Given the description of an element on the screen output the (x, y) to click on. 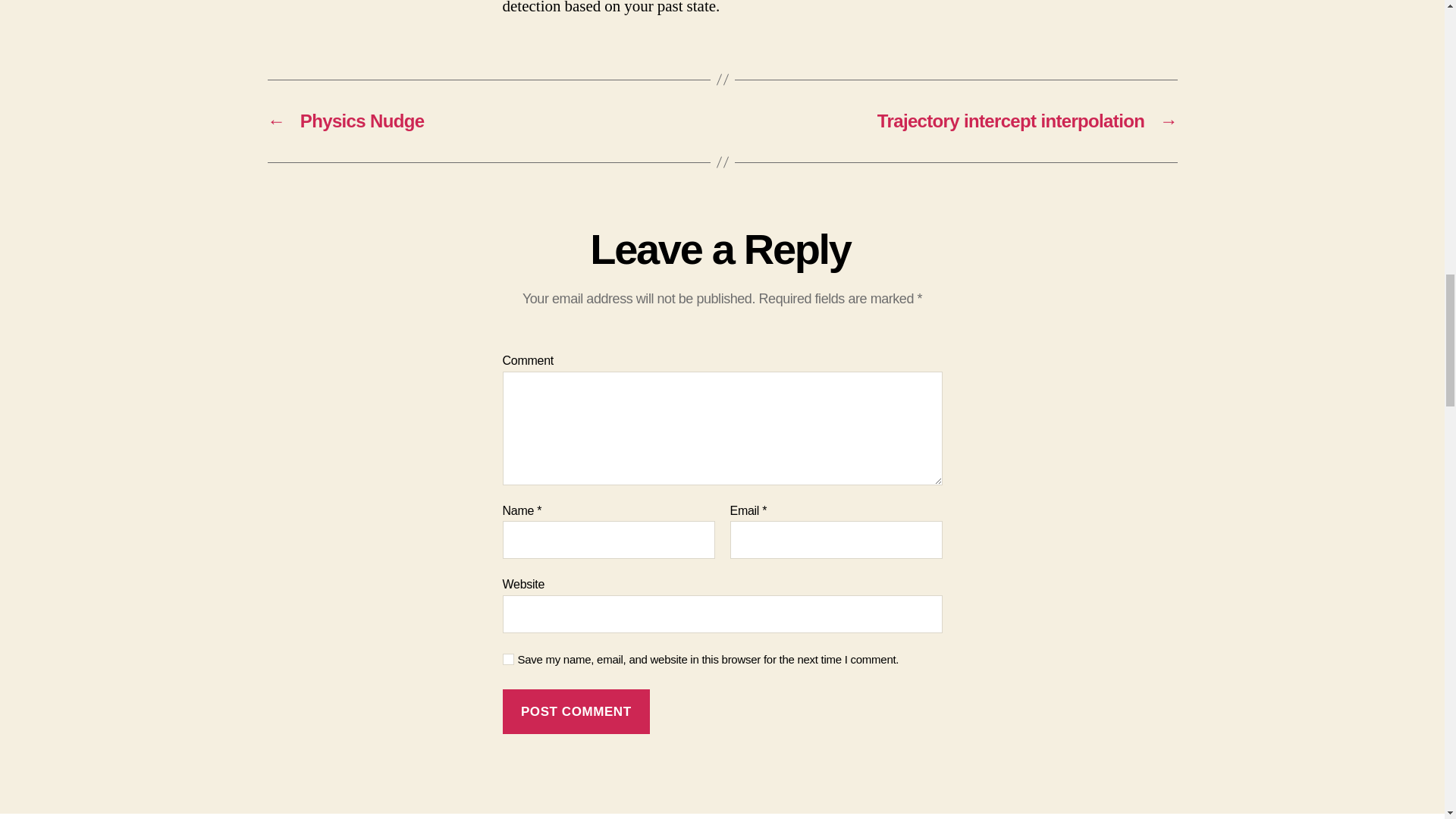
Post Comment (575, 711)
Post Comment (575, 711)
yes (507, 659)
